Given the description of an element on the screen output the (x, y) to click on. 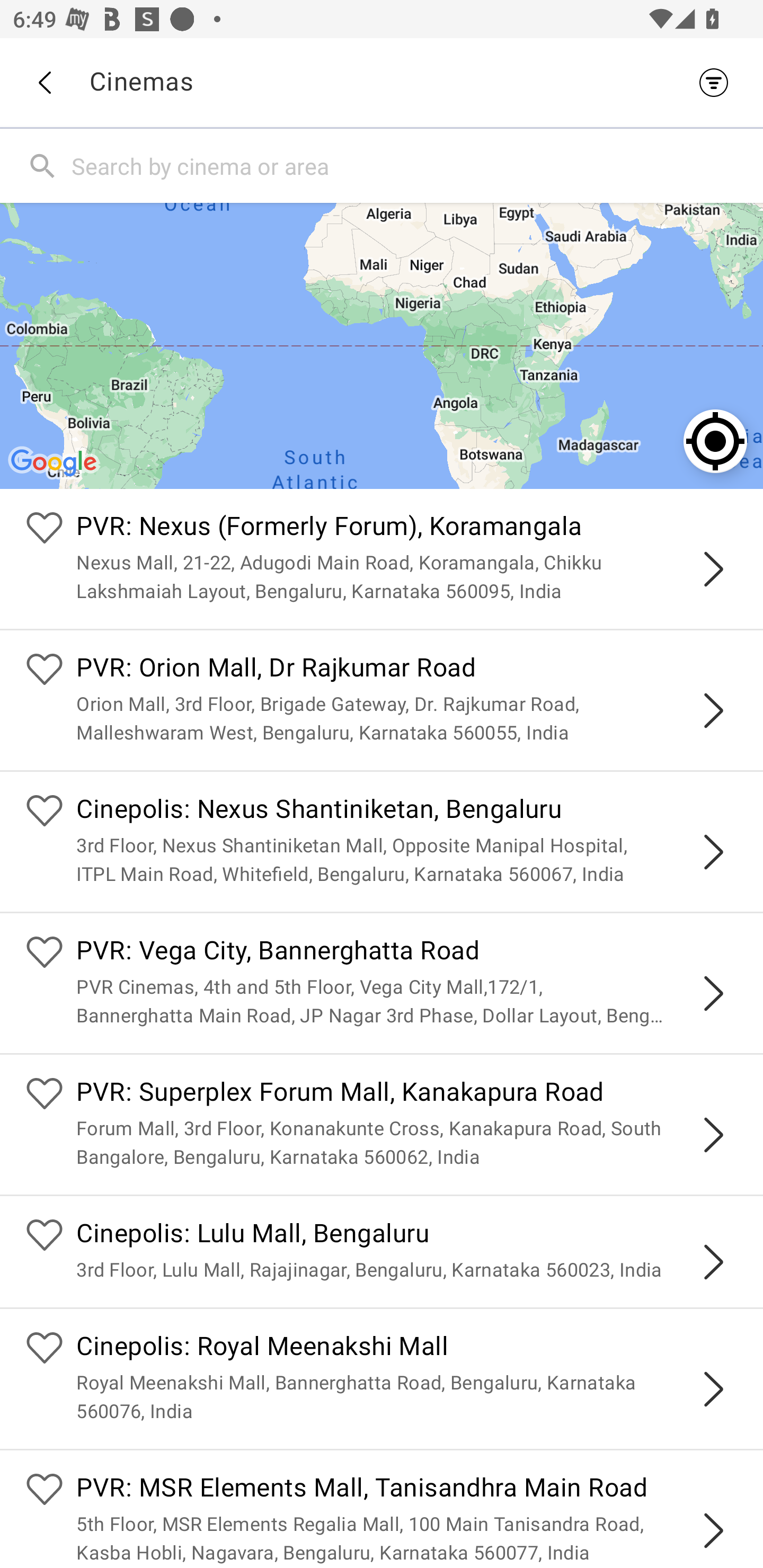
Back Cinemas Filter (381, 82)
Filter (718, 82)
Back (44, 82)
Search by cinema or area (413, 165)
Google Map (381, 345)
PVR: Nexus (Formerly Forum), Koramangala (406, 528)
 (713, 568)
PVR: Orion Mall, Dr Rajkumar Road (406, 669)
 (713, 710)
Cinepolis: Nexus Shantiniketan, Bengaluru (406, 810)
 (713, 851)
PVR: Vega City, Bannerghatta Road (406, 952)
 (713, 993)
PVR: Superplex Forum Mall, Kanakapura Road (406, 1094)
 (713, 1134)
Cinepolis: Lulu Mall, Bengaluru (406, 1235)
 (713, 1261)
Cinepolis: Royal Meenakshi Mall (406, 1348)
 (713, 1388)
PVR: MSR Elements Mall, Tanisandhra Main Road (406, 1489)
 (713, 1530)
